Given the description of an element on the screen output the (x, y) to click on. 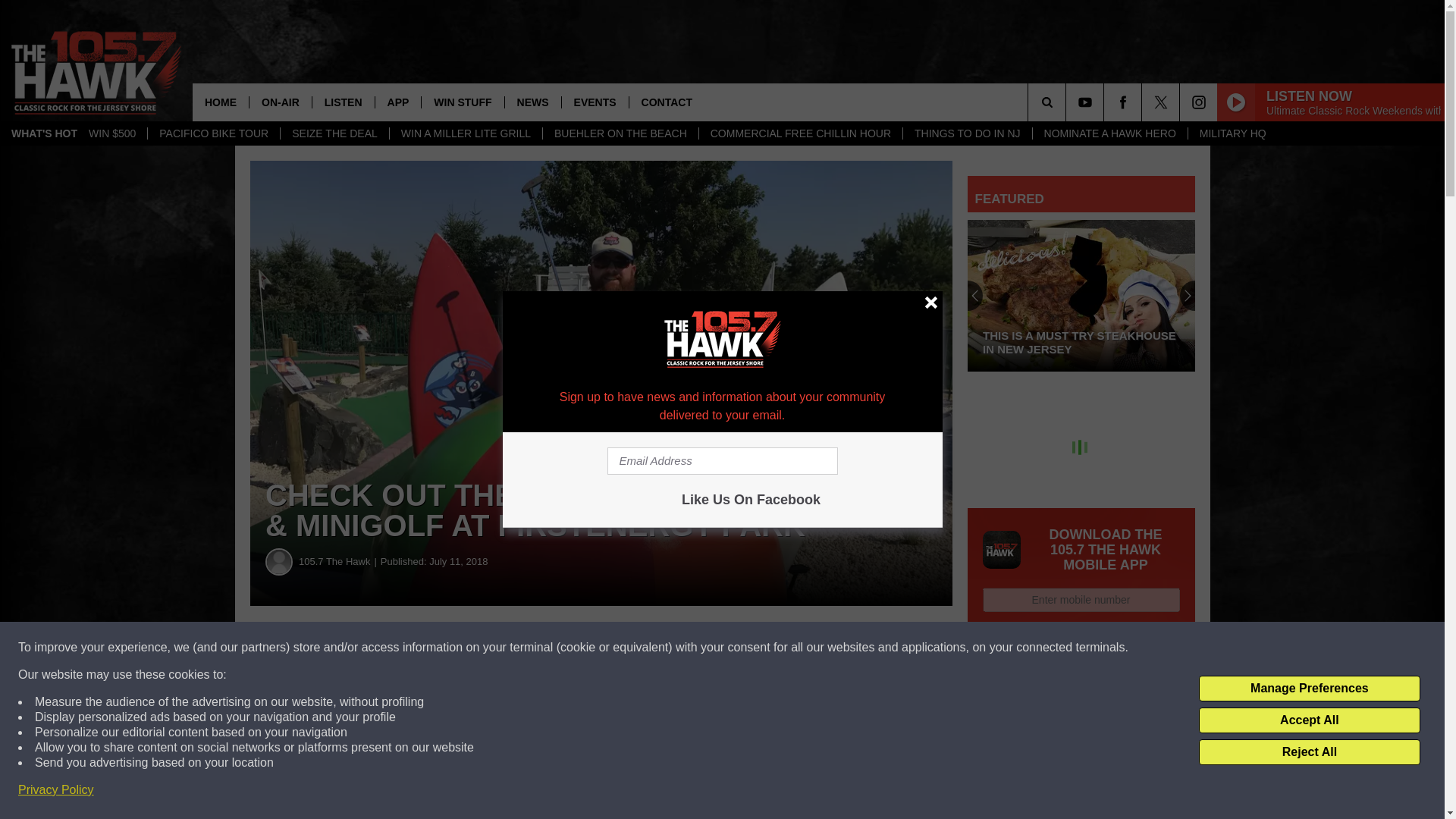
COMMERCIAL FREE CHILLIN HOUR (800, 133)
LISTEN (342, 102)
SEIZE THE DEAL (333, 133)
BUEHLER ON THE BEACH (619, 133)
PACIFICO BIKE TOUR (213, 133)
NOMINATE A HAWK HERO (1110, 133)
Accept All (1309, 720)
WIN STUFF (461, 102)
Share on Facebook (460, 647)
ON-AIR (279, 102)
Share on Twitter (741, 647)
APP (398, 102)
THINGS TO DO IN NJ (967, 133)
HOME (220, 102)
SEARCH (1068, 102)
